Given the description of an element on the screen output the (x, y) to click on. 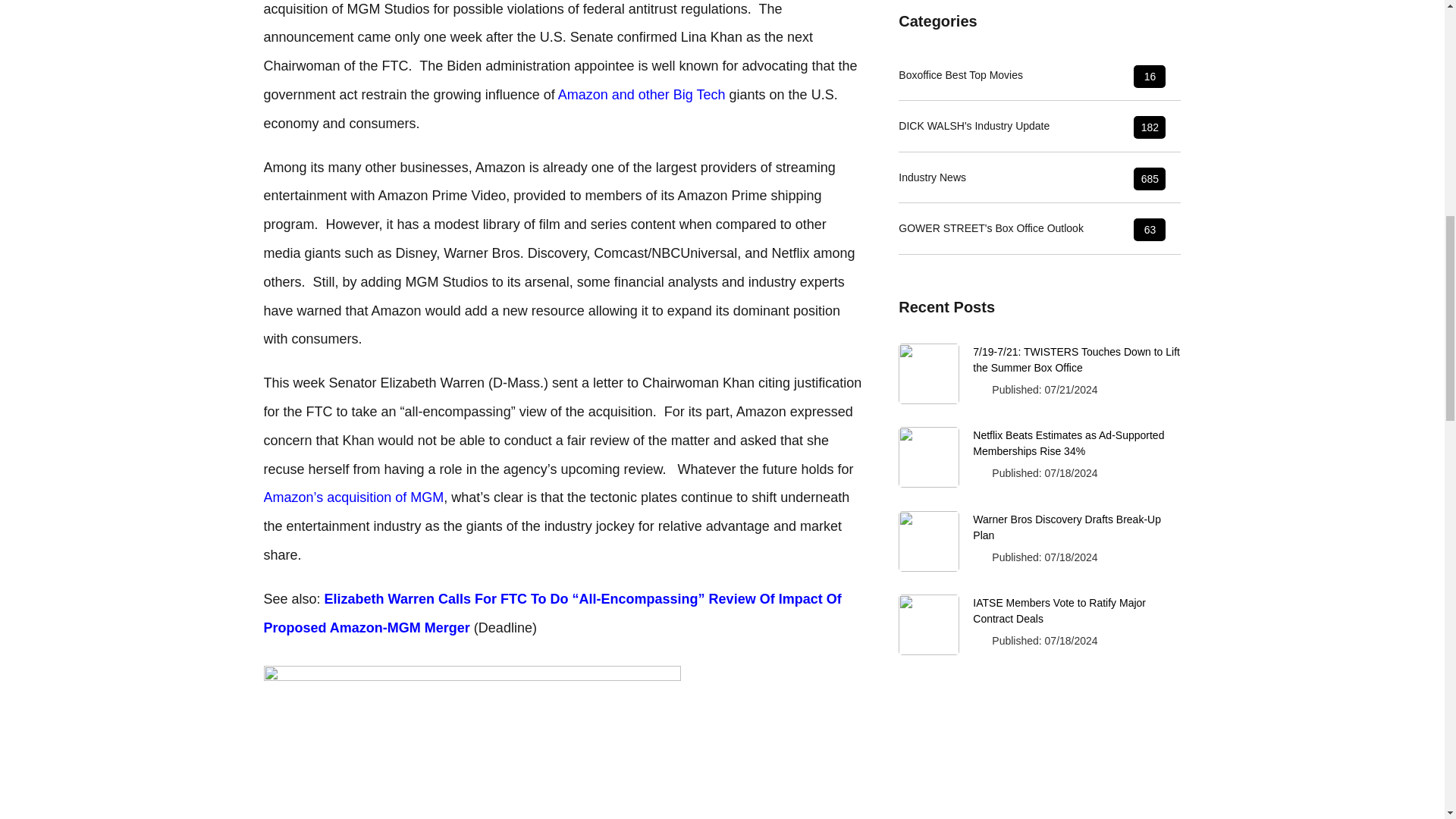
Amazon and other Big Tech (641, 94)
